Given the description of an element on the screen output the (x, y) to click on. 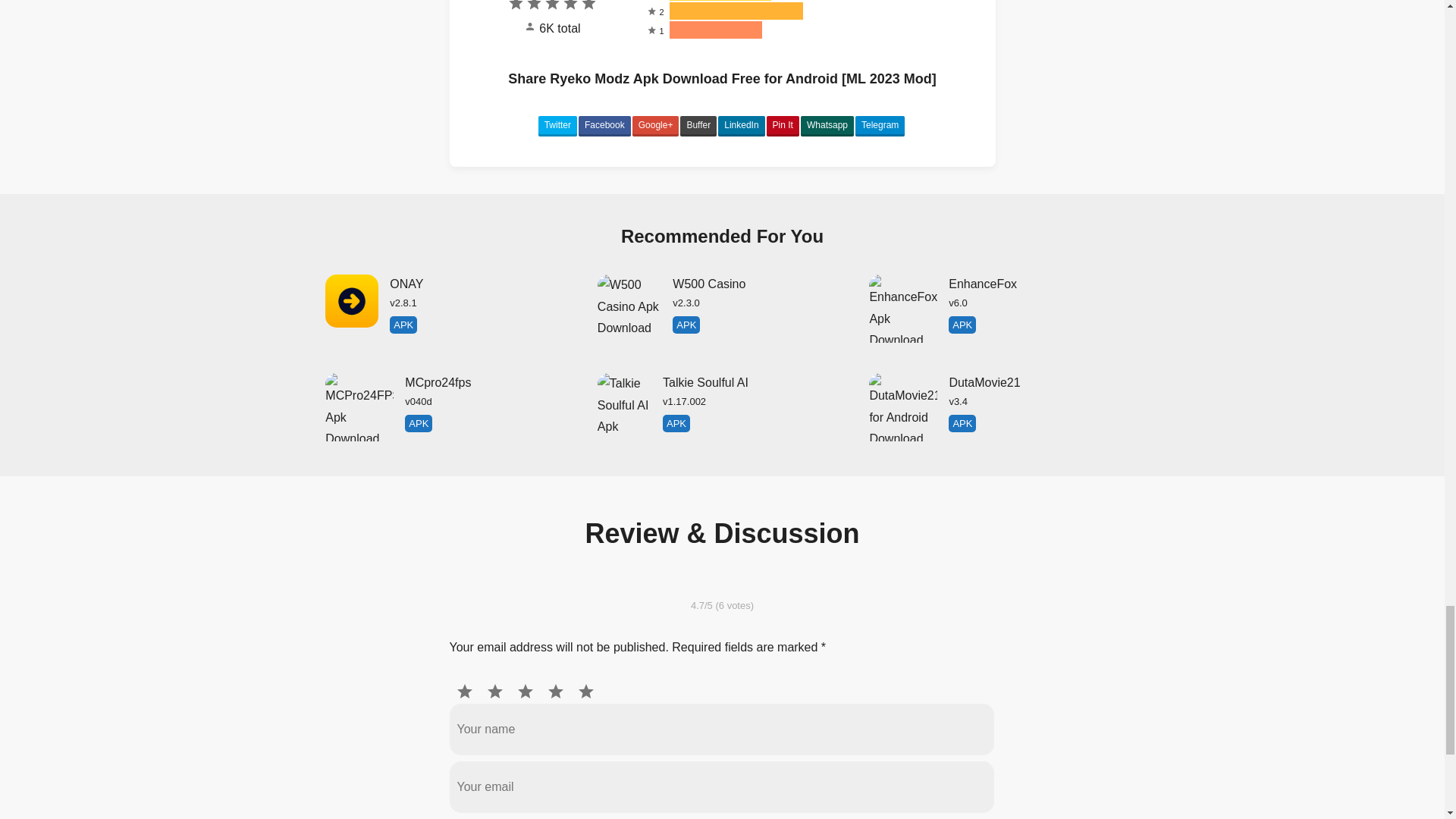
Telegram (880, 126)
Twitter (993, 308)
Whatsapp (557, 126)
Pin It (826, 126)
Facebook (449, 308)
LinkedIn (783, 126)
Buffer (604, 126)
